Given the description of an element on the screen output the (x, y) to click on. 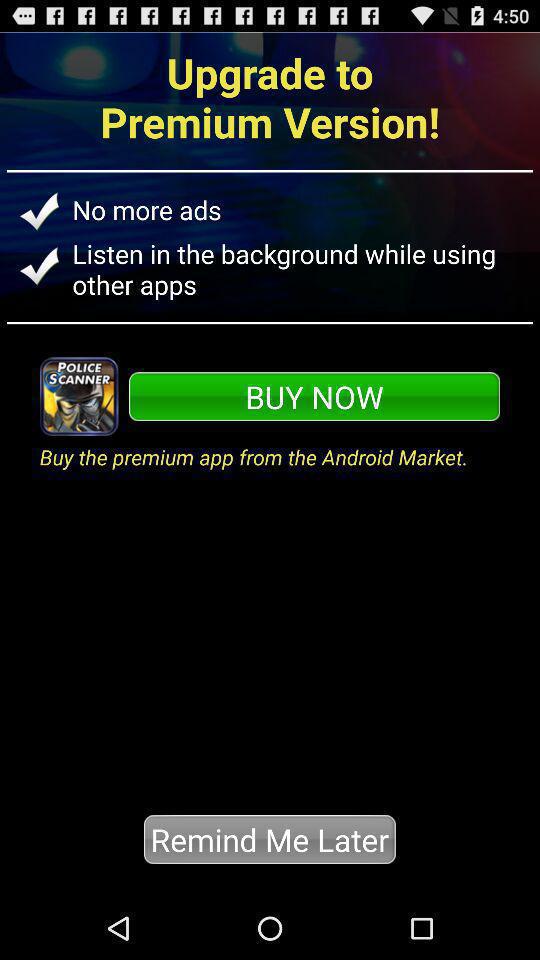
click the buy now (314, 396)
